Given the description of an element on the screen output the (x, y) to click on. 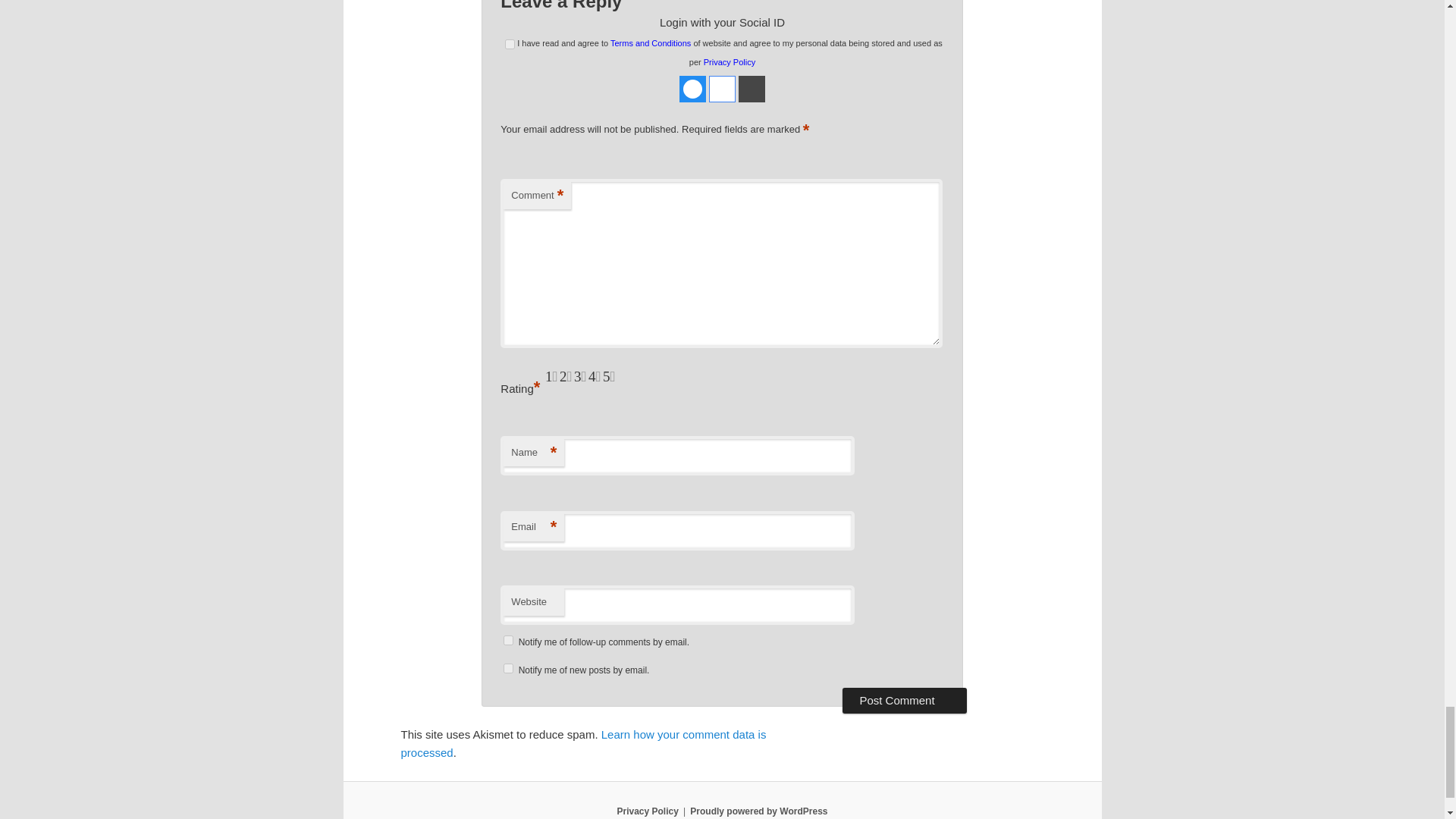
Post Comment (904, 700)
1 (510, 44)
Login with Facebook (692, 89)
Login with Google (722, 89)
Semantic Personal Publishing Platform (758, 810)
Login with Wordpress (751, 89)
subscribe (508, 640)
subscribe (508, 668)
